Given the description of an element on the screen output the (x, y) to click on. 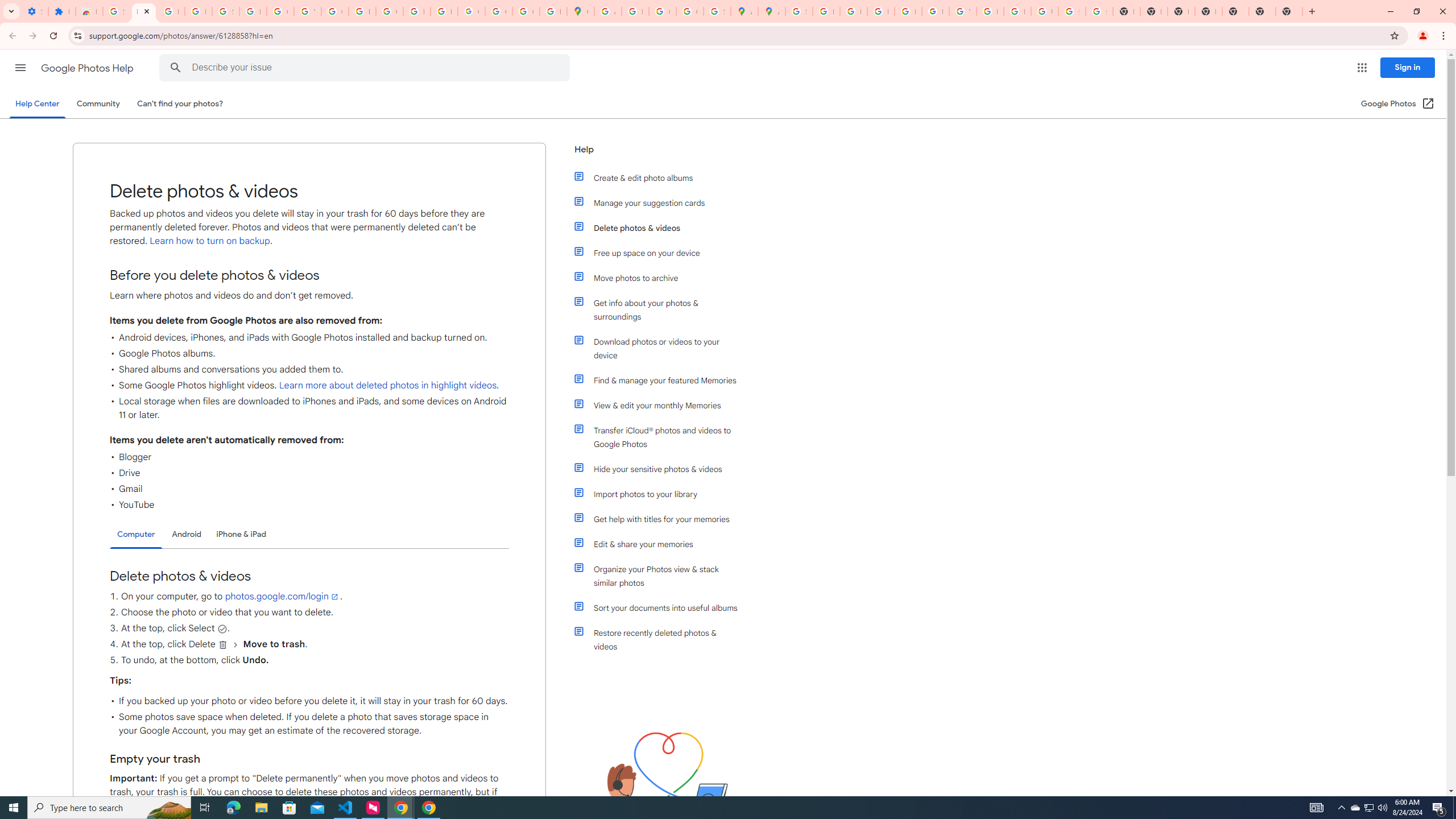
Delete photos & videos (661, 227)
Google Account (280, 11)
Describe your issue (366, 67)
View & edit your monthly Memories (661, 405)
Sign in - Google Accounts (116, 11)
New Tab (1289, 11)
Create & edit photo albums (661, 177)
Move photos to archive (661, 277)
